Given the description of an element on the screen output the (x, y) to click on. 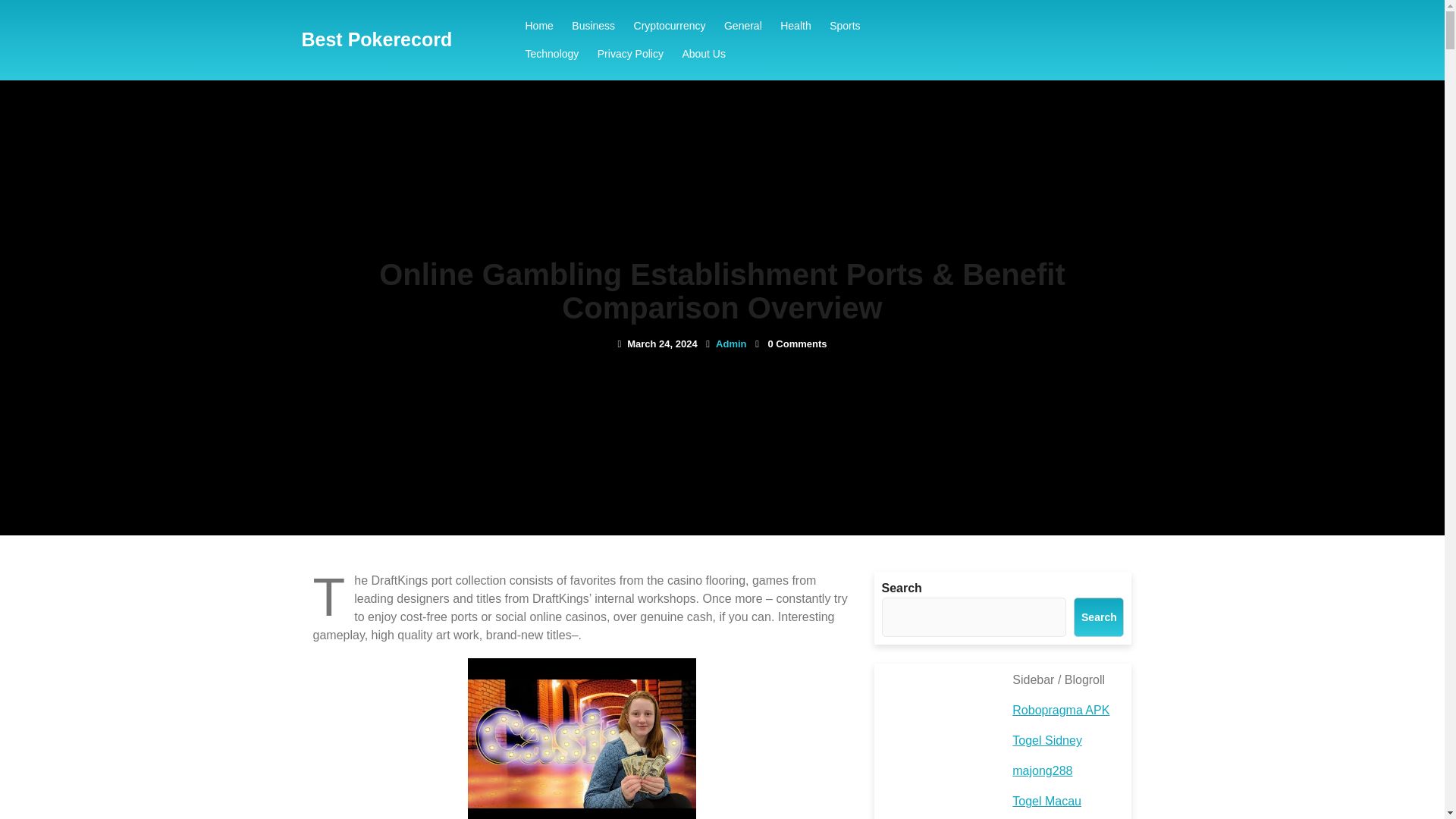
Technology (551, 53)
majong288 (1041, 770)
Robopragma APK (1060, 709)
Sports (844, 26)
Health (795, 26)
Privacy Policy (630, 53)
Togel Macau (1046, 800)
Best Pokerecord (376, 38)
Business (593, 26)
Admin (730, 343)
